Given the description of an element on the screen output the (x, y) to click on. 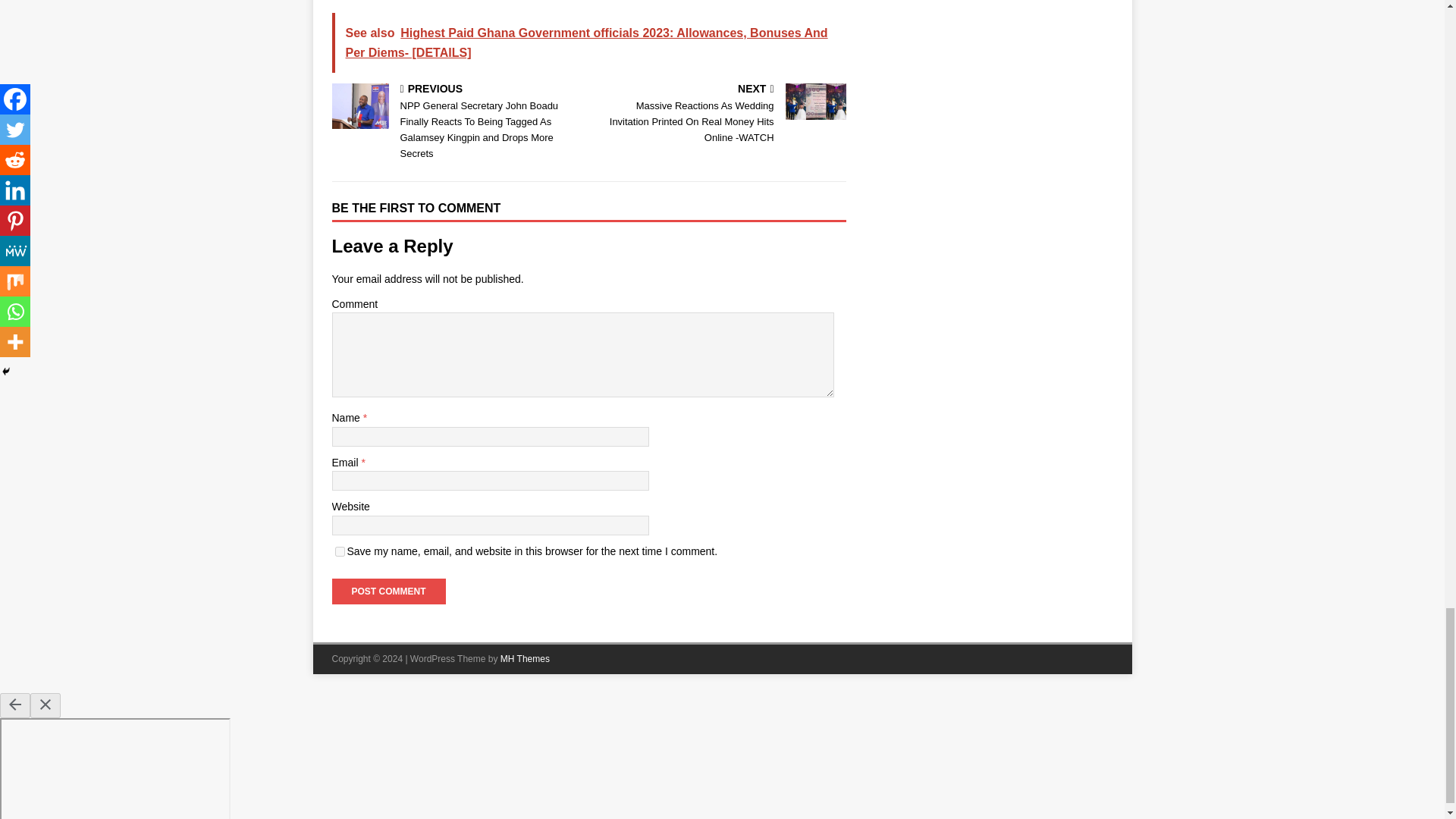
Post Comment (388, 591)
yes (339, 551)
Post Comment (388, 591)
